Given the description of an element on the screen output the (x, y) to click on. 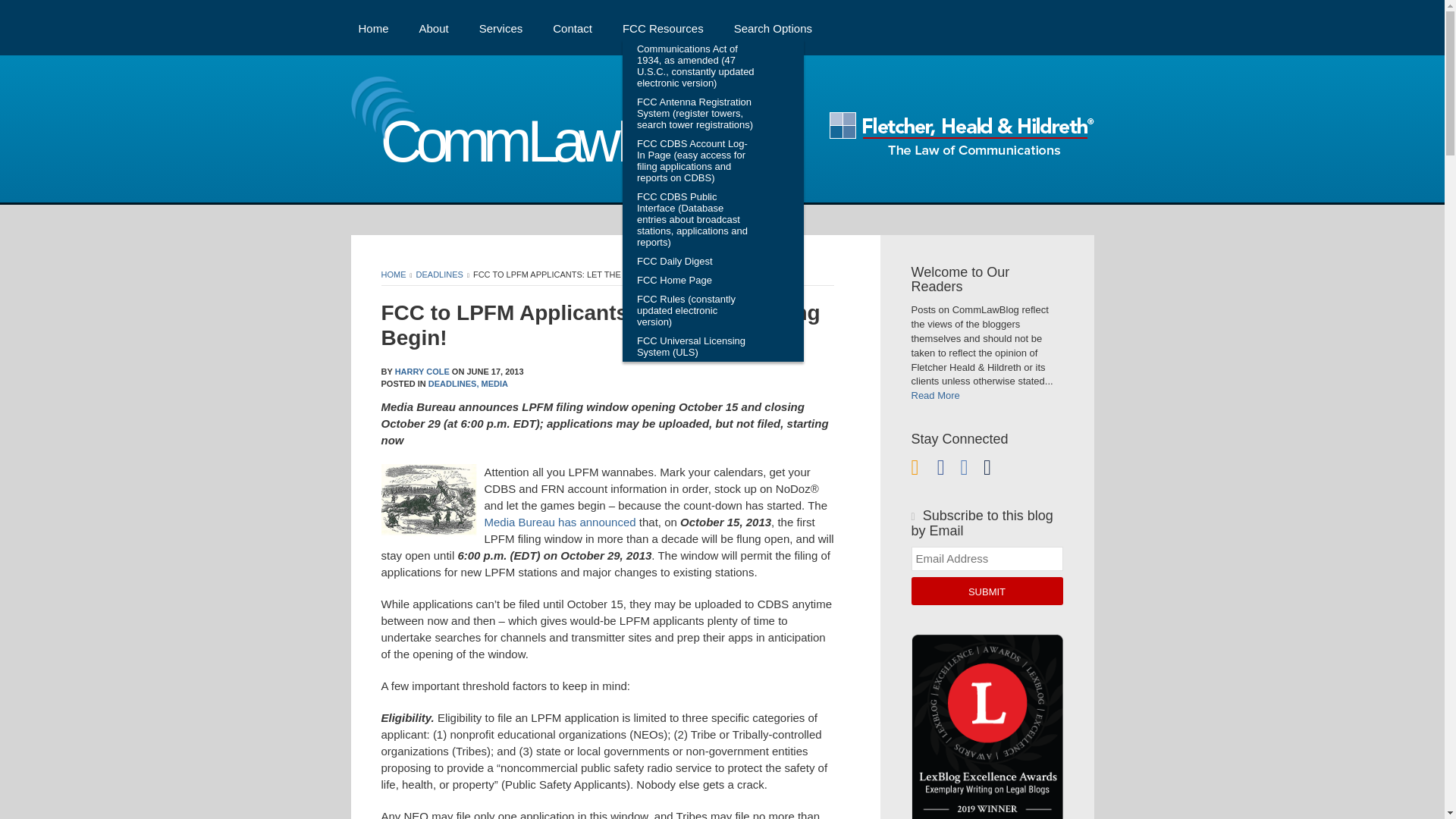
DEADLINES (439, 274)
FCC Resources (663, 28)
FCC Home Page (695, 280)
HARRY COLE (421, 370)
DEADLINES, (453, 383)
Media Bureau has announced (558, 521)
HOME (393, 274)
CommLawBlog (533, 145)
MEDIA (494, 383)
About (433, 28)
